Given the description of an element on the screen output the (x, y) to click on. 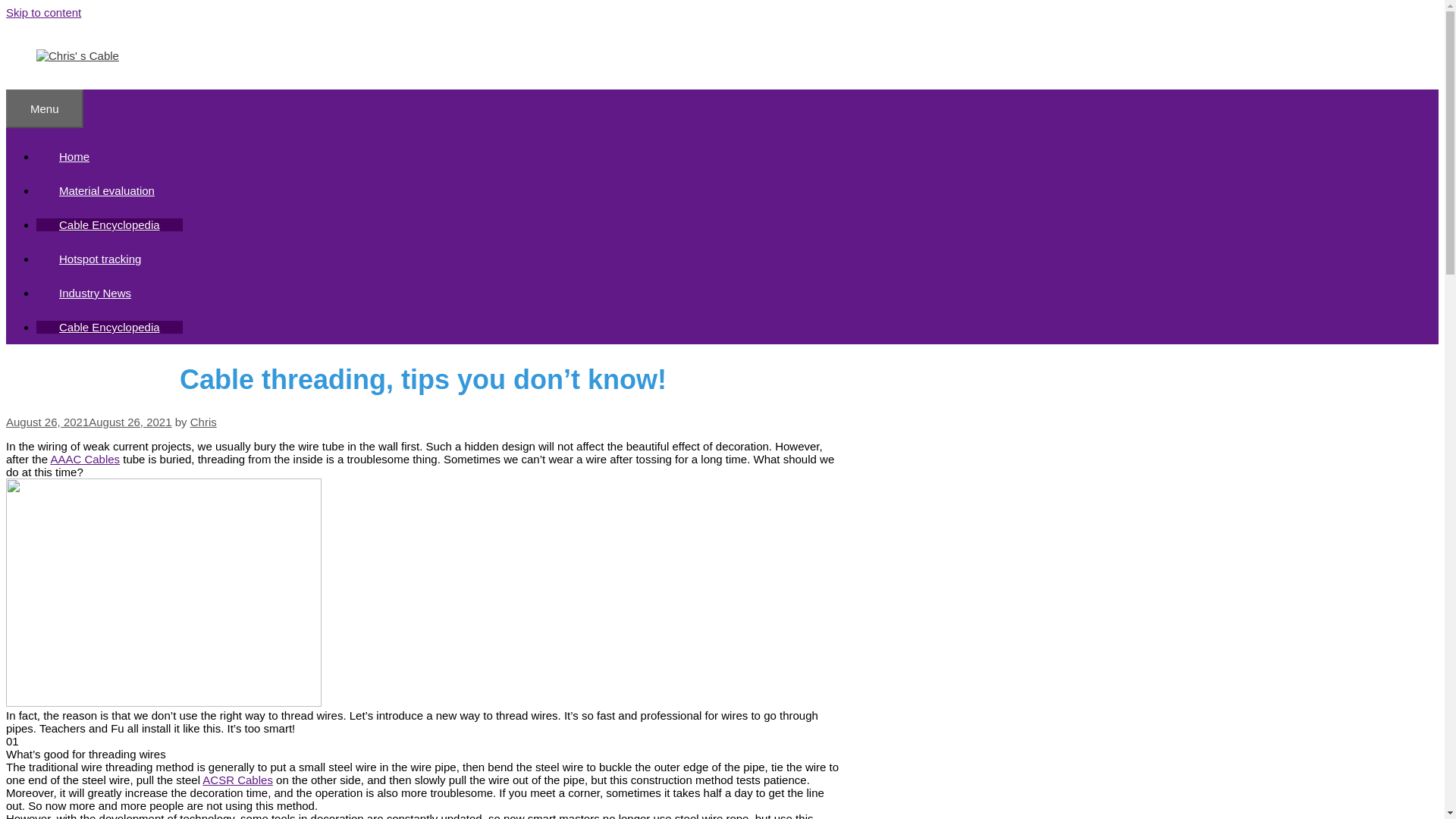
Hotspot tracking (99, 258)
Chris (203, 421)
Skip to content (43, 11)
AAAC Cables (84, 459)
Home (74, 155)
Menu (43, 108)
ACSR Cables (237, 779)
Chris' s Cable (77, 55)
Industry News (95, 292)
Material evaluation (106, 190)
Cable Encyclopedia (109, 327)
8:47 am (88, 421)
View all posts by Chris (203, 421)
August 26, 2021August 26, 2021 (88, 421)
Skip to content (43, 11)
